Given the description of an element on the screen output the (x, y) to click on. 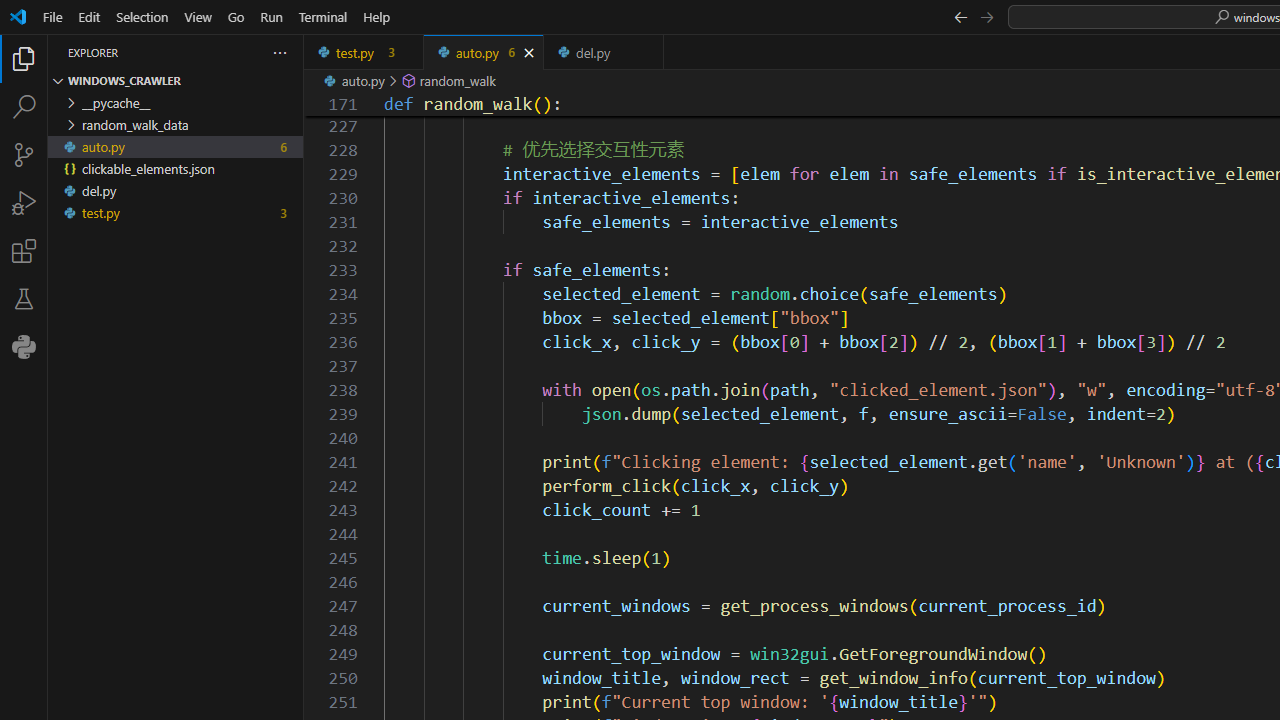
Run (271, 16)
Close (Ctrl+F4) (648, 52)
test.py (363, 52)
Run and Debug (Ctrl+Shift+D) (24, 202)
Go Back (Alt+LeftArrow) (960, 16)
Edit (89, 16)
Terminal (322, 16)
Source Control (Ctrl+Shift+G) (24, 155)
Extensions (Ctrl+Shift+X) (24, 250)
Python (24, 346)
